Given the description of an element on the screen output the (x, y) to click on. 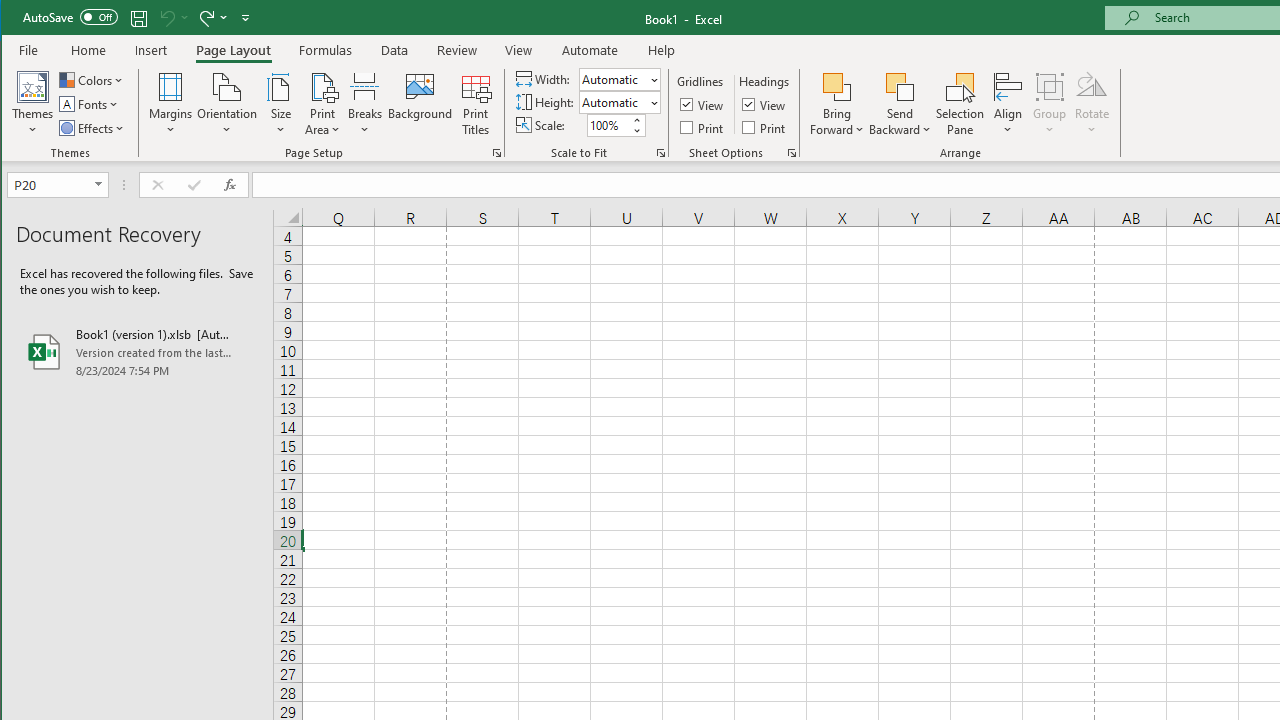
Width (619, 78)
Book1 (version 1).xlsb  [AutoRecovered] (137, 352)
Align (1007, 104)
Sheet Options (791, 152)
More Options (900, 123)
Review (456, 50)
Send Backward (900, 104)
Bring Forward (836, 104)
Group (1050, 104)
Margins (170, 104)
File Tab (29, 49)
Bring Forward (836, 86)
Home (88, 50)
